Given the description of an element on the screen output the (x, y) to click on. 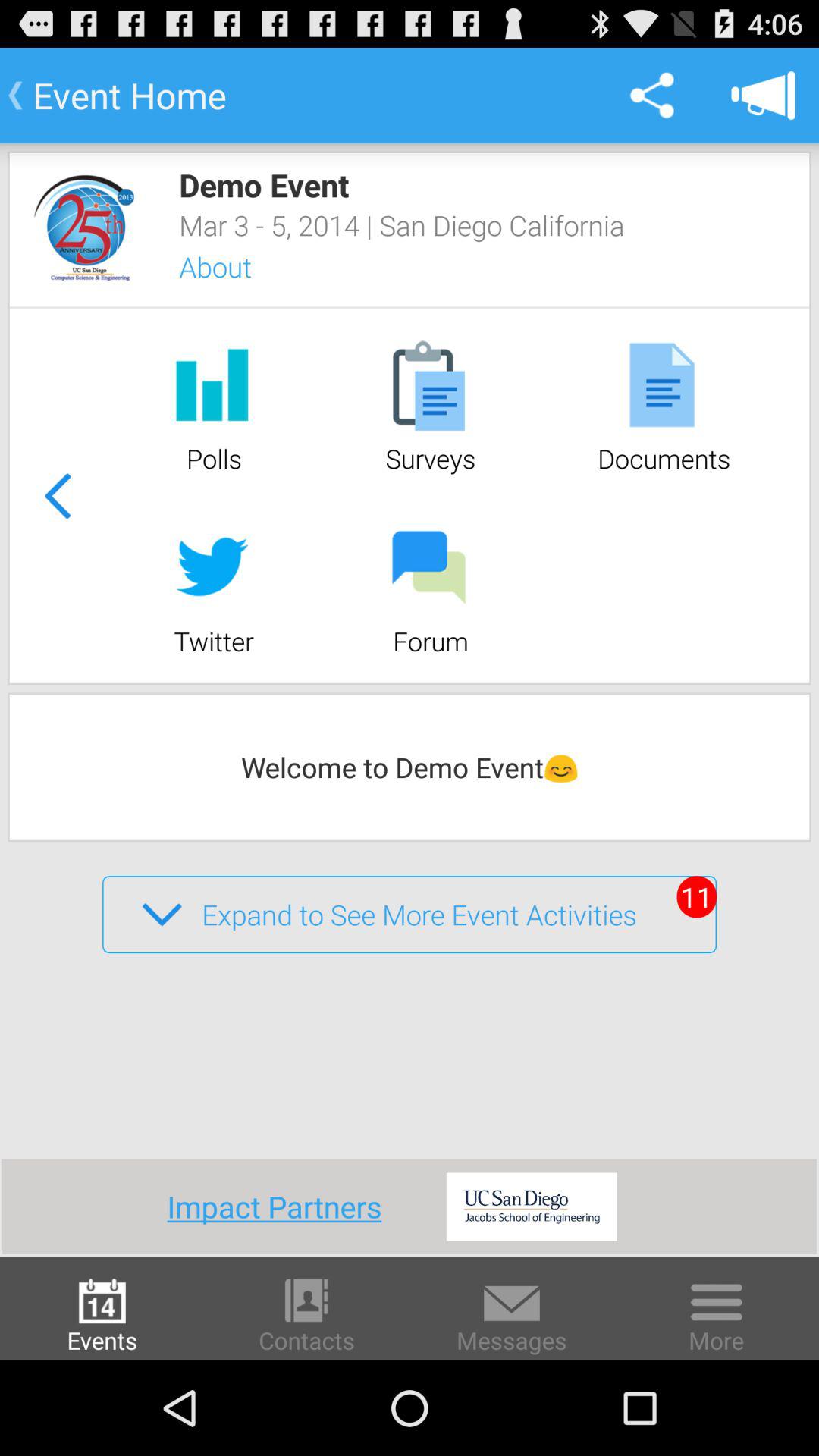
launch the app next to the demo event (84, 227)
